Given the description of an element on the screen output the (x, y) to click on. 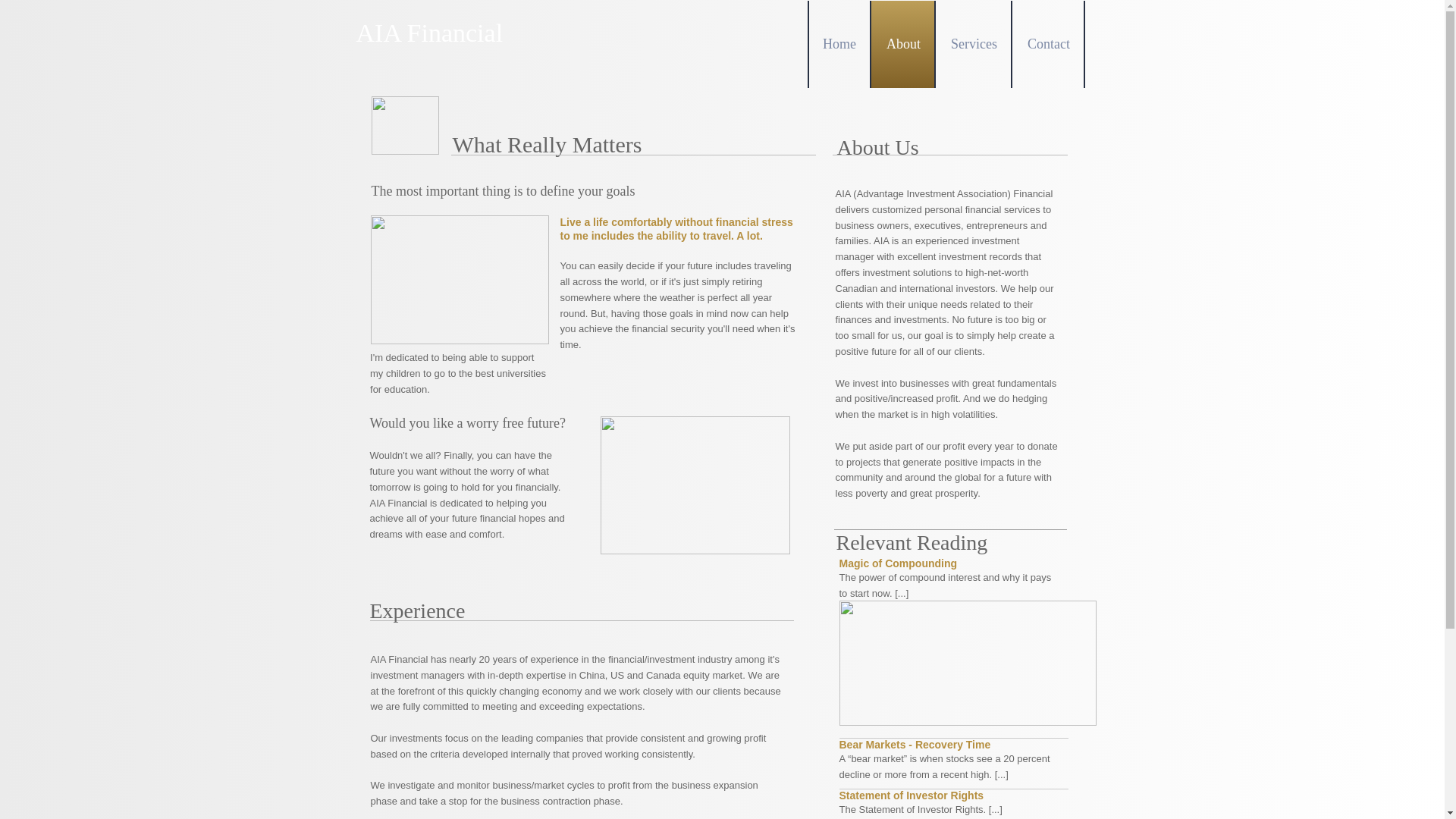
[...] Element type: text (995, 809)
Services Element type: text (973, 43)
Home Element type: text (839, 43)
he Statement of Investor Rights.  Element type: text (916, 809)
Contact Element type: text (1048, 43)
About Element type: text (903, 43)
